Given the description of an element on the screen output the (x, y) to click on. 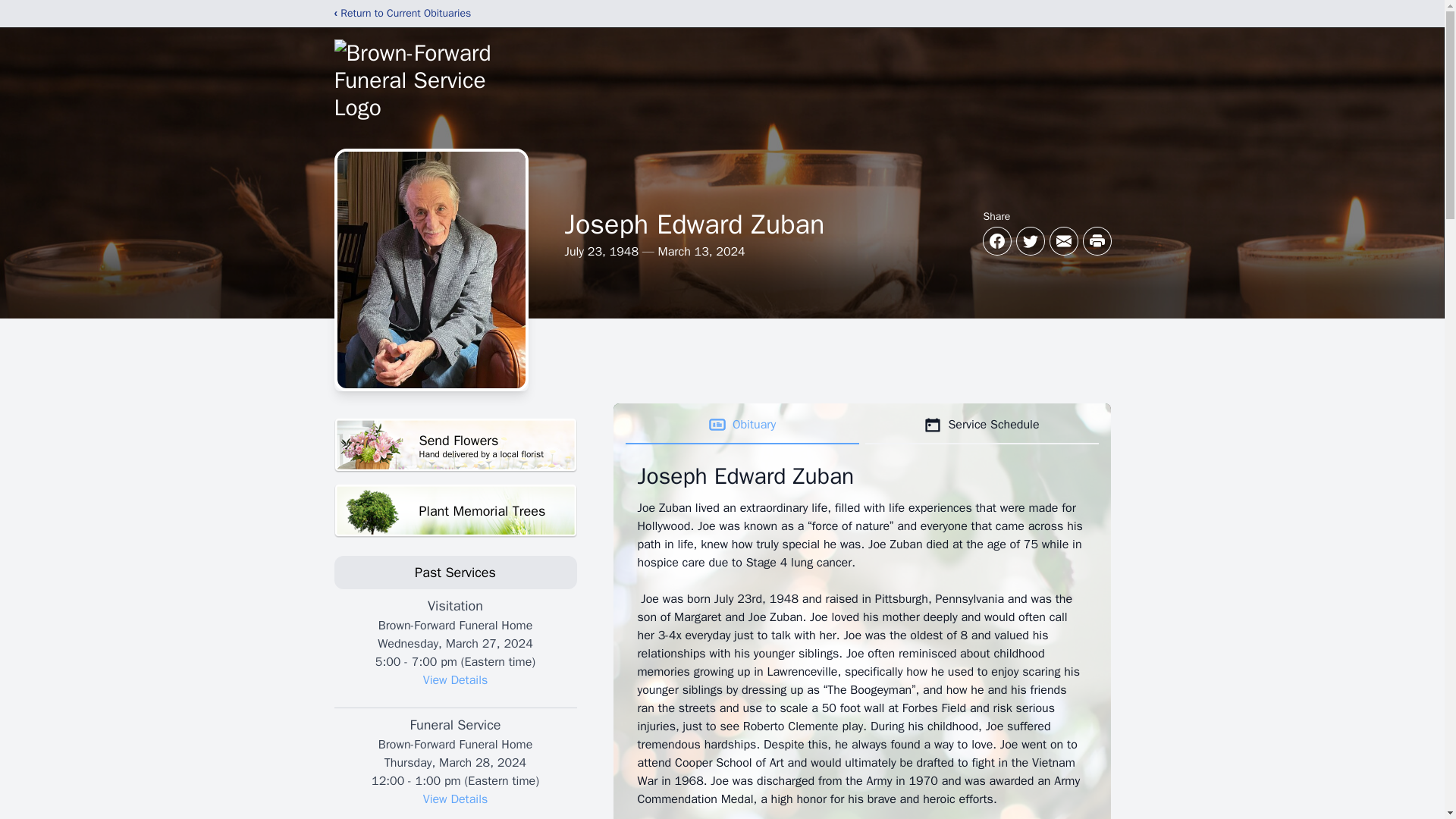
Plant Memorial Trees (454, 511)
View Details (455, 798)
Obituary (741, 425)
View Details (454, 445)
Service Schedule (455, 679)
